Given the description of an element on the screen output the (x, y) to click on. 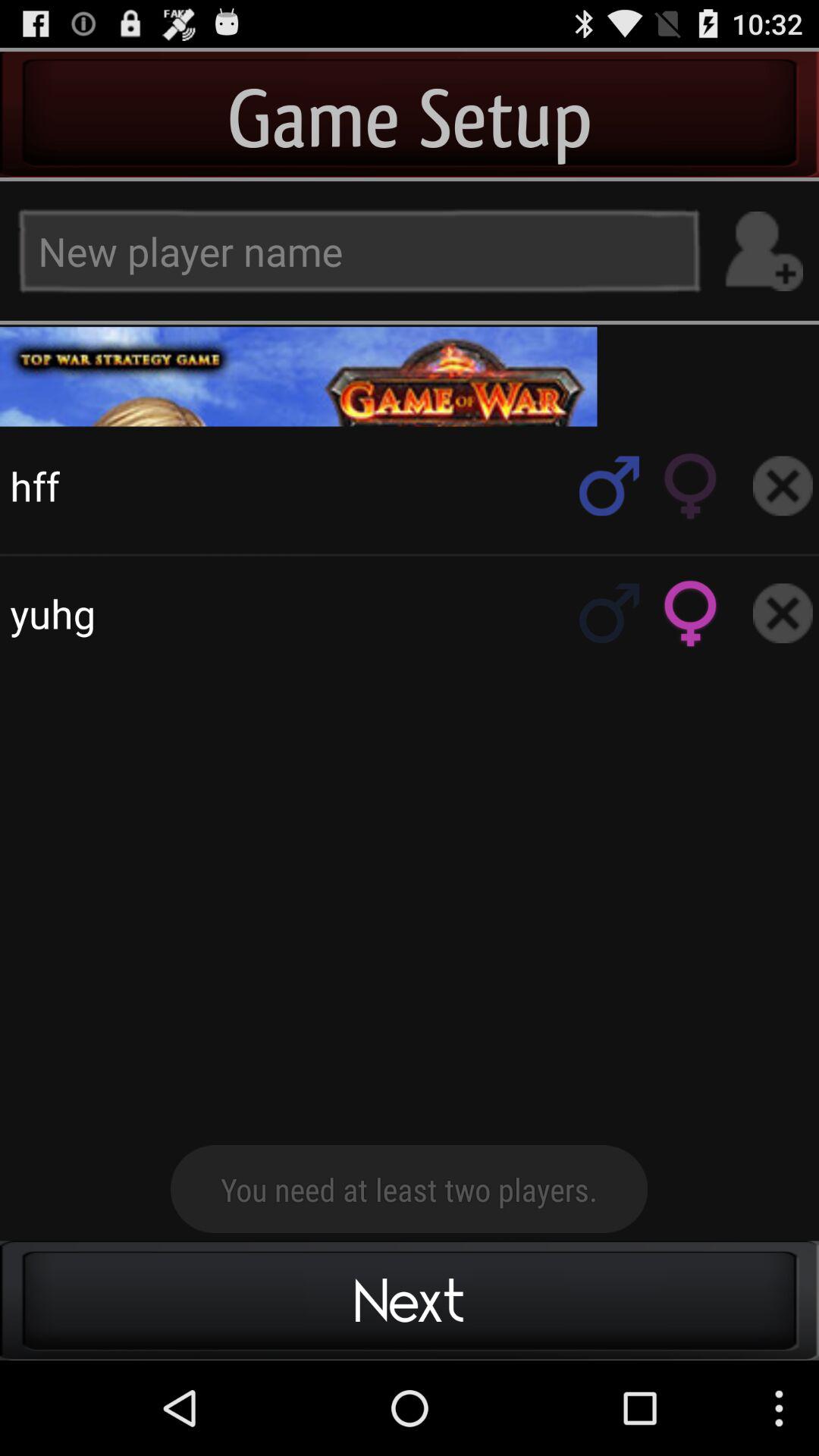
close button (782, 485)
